Given the description of an element on the screen output the (x, y) to click on. 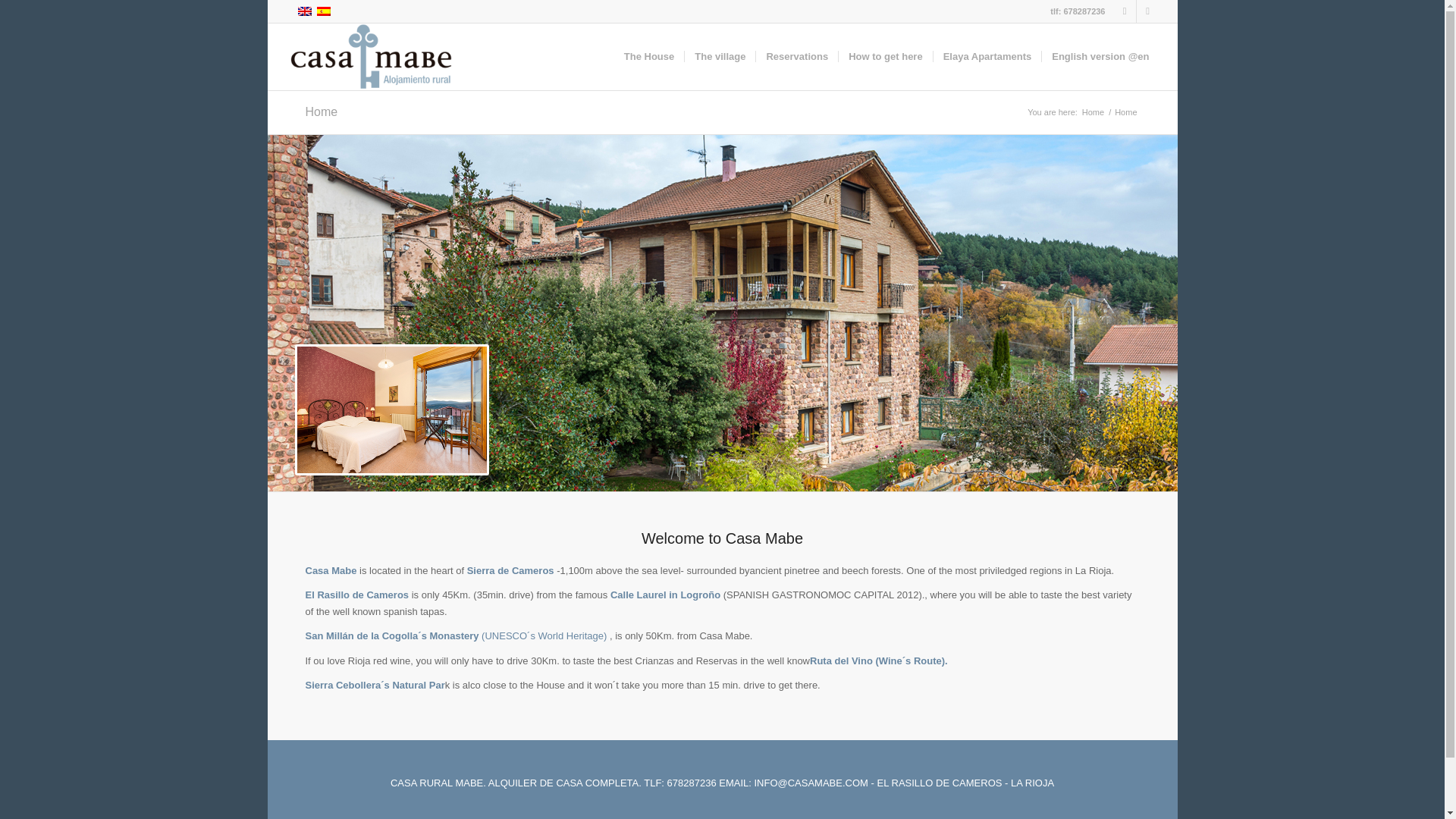
The House (649, 56)
English (305, 10)
Reservations (796, 56)
The village (719, 56)
Home (320, 111)
Permanent Link: Home (320, 111)
